Given the description of an element on the screen output the (x, y) to click on. 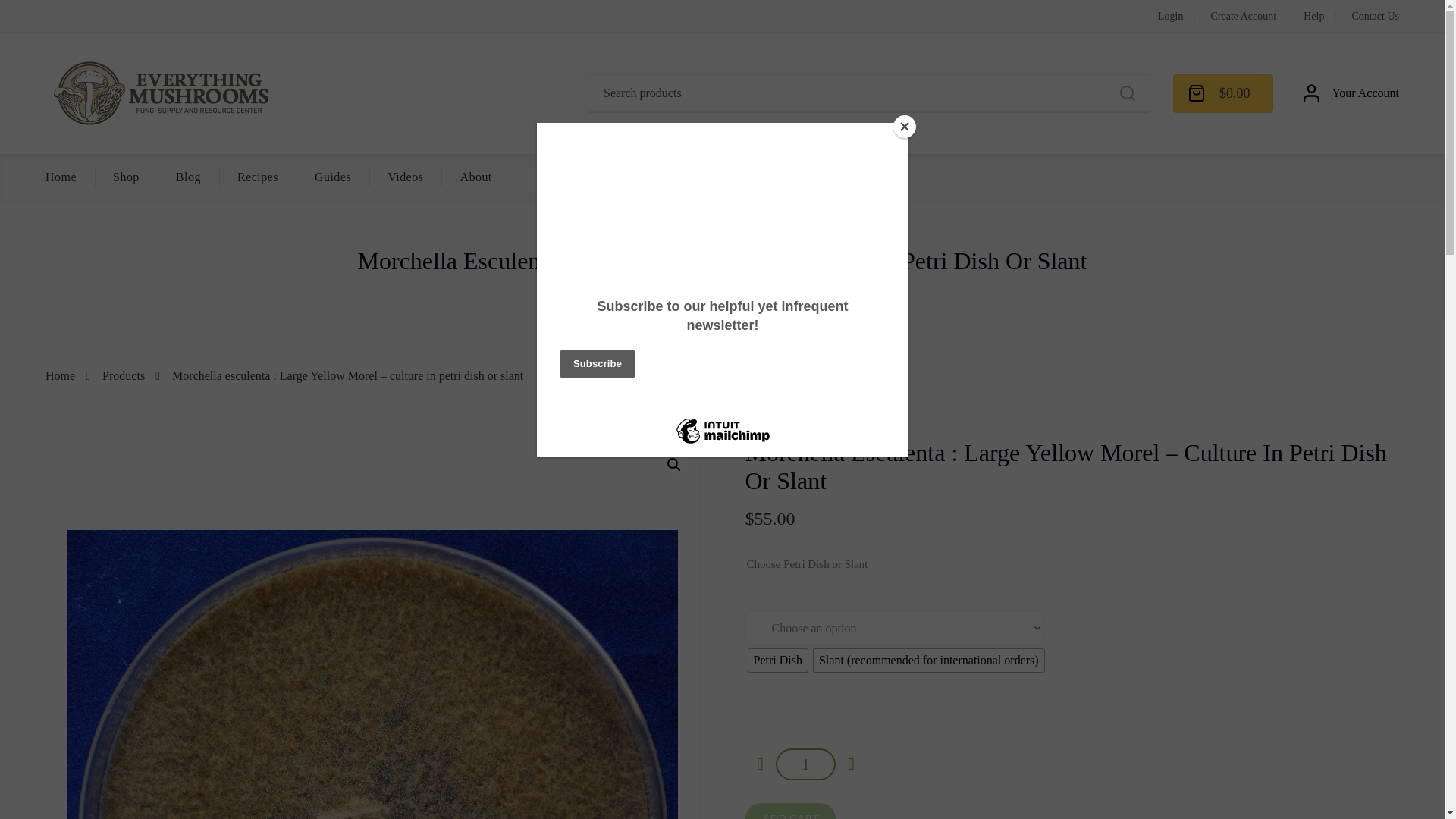
Everything Mushrooms (159, 93)
About (476, 176)
Login (1169, 16)
ADD CART (789, 811)
Help (1313, 16)
Guides (332, 176)
Shop (126, 176)
Videos (405, 176)
Petri Dish (777, 660)
Your Account (1351, 92)
1 (804, 764)
Contact Us (1375, 16)
Blog (188, 176)
Home (61, 176)
Products (122, 375)
